Given the description of an element on the screen output the (x, y) to click on. 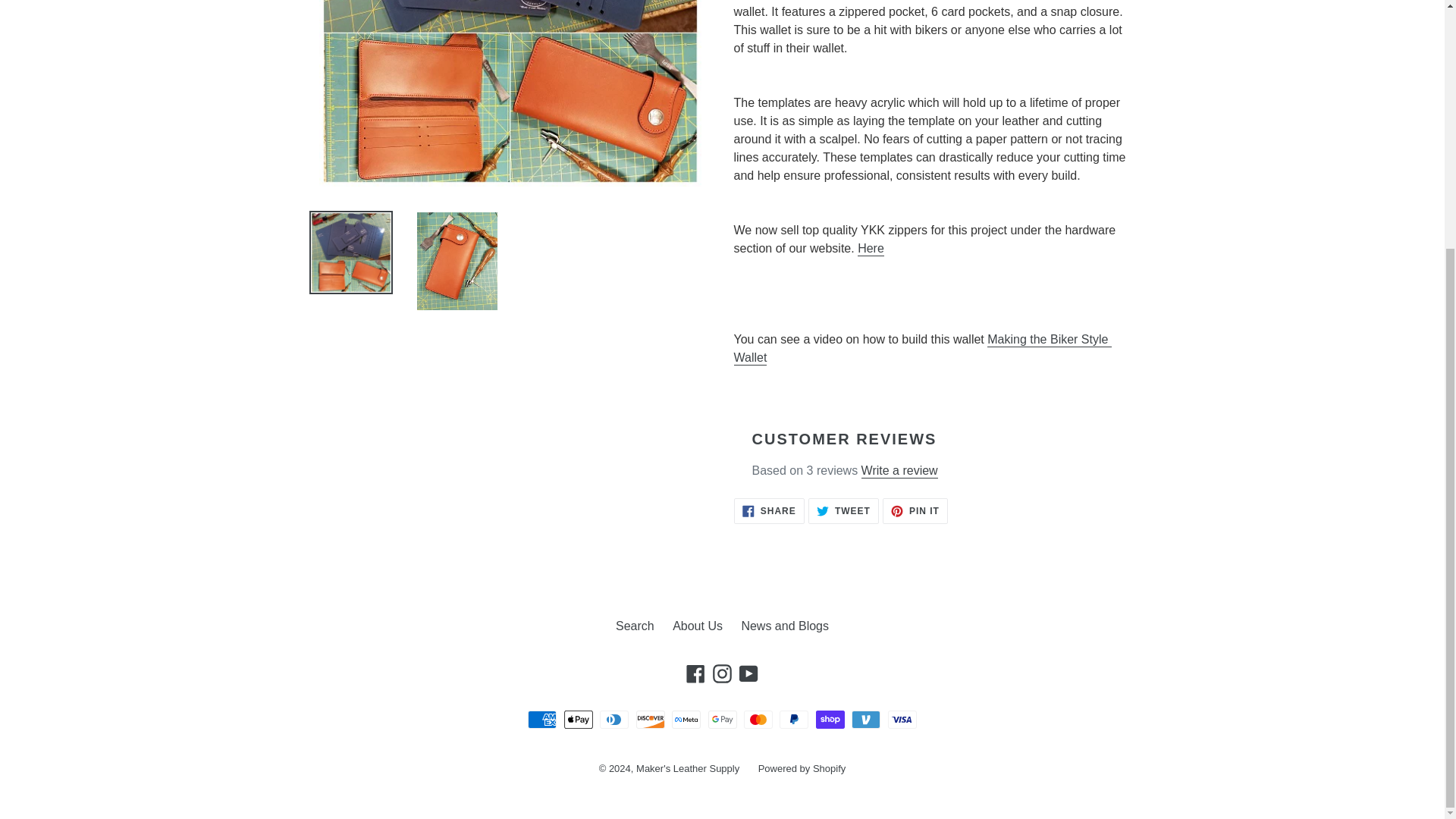
Search (914, 510)
YouTube (634, 625)
Making the Biker Style Wallet (748, 673)
News and Blogs (843, 510)
Making the Biker Style Wallet (922, 348)
About Us (784, 625)
Instagram (922, 348)
Facebook (697, 625)
Write a review (721, 673)
Here (695, 673)
Maker's Leather Supply (769, 510)
Powered by Shopify (899, 470)
